Given the description of an element on the screen output the (x, y) to click on. 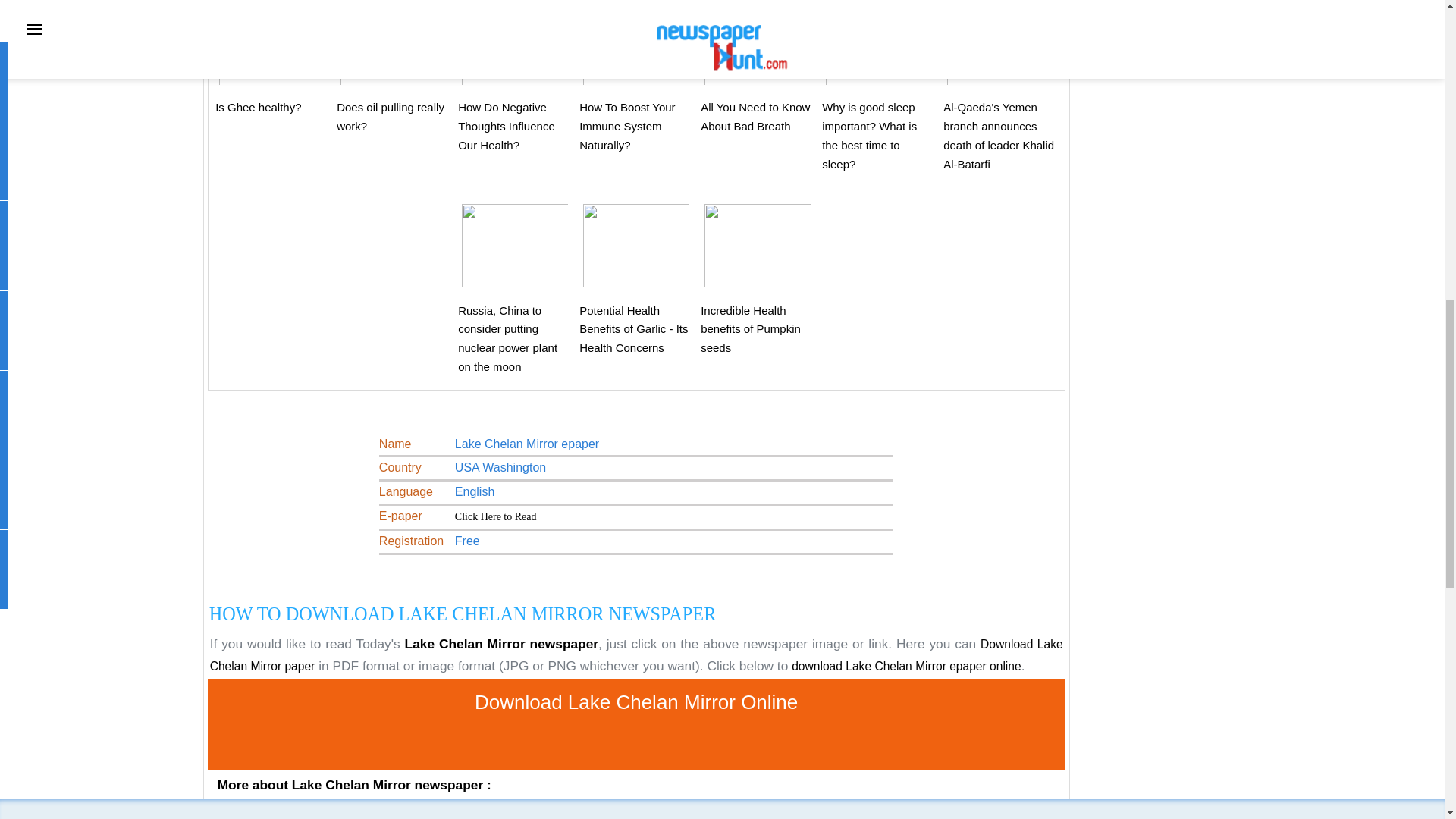
Download Lake Chelan Mirror news paper (495, 516)
